Given the description of an element on the screen output the (x, y) to click on. 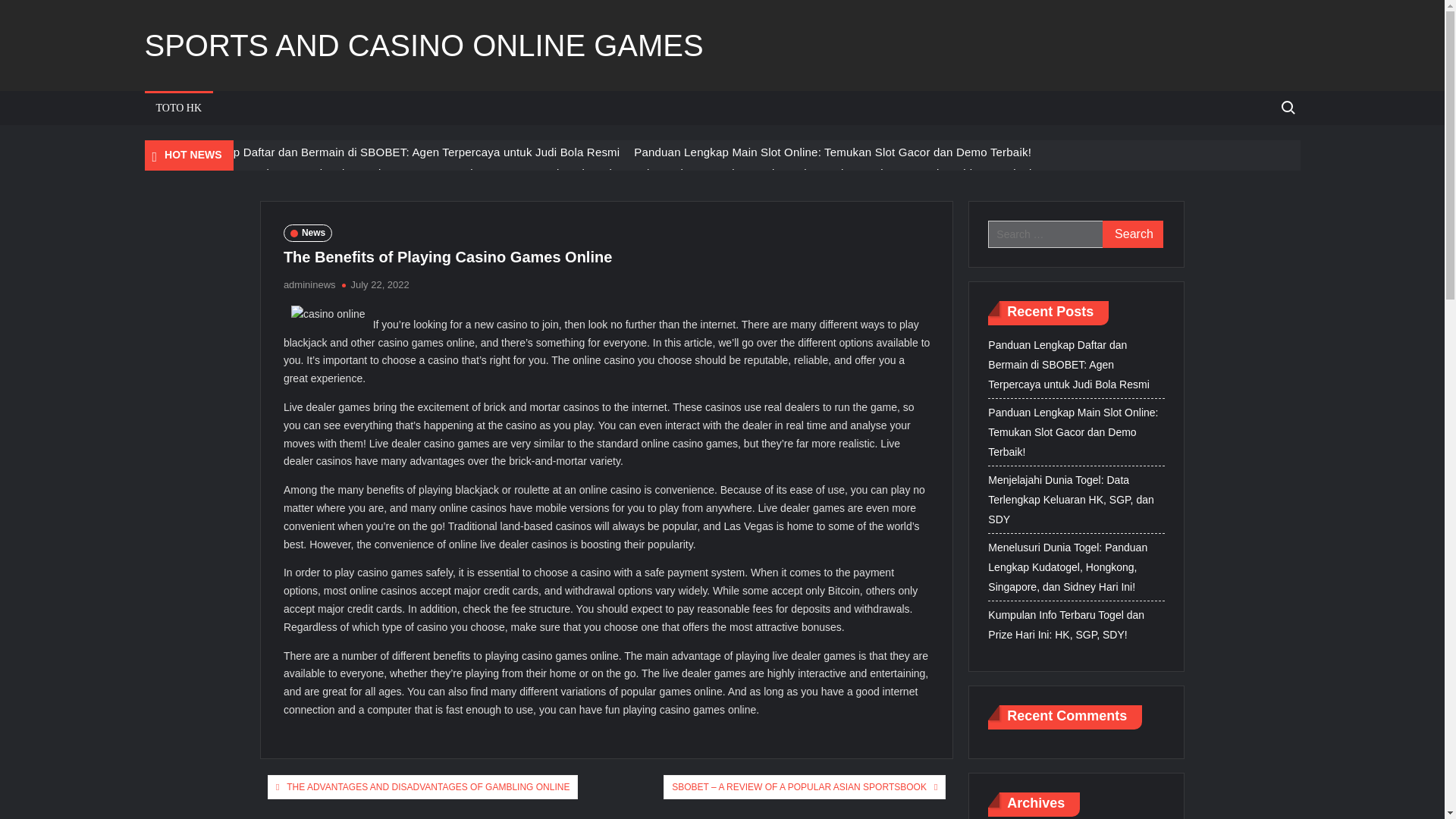
Search (1132, 234)
TOTO HK (178, 107)
Search for: (1287, 107)
Search (1132, 234)
SPORTS AND CASINO ONLINE GAMES (423, 45)
